Given the description of an element on the screen output the (x, y) to click on. 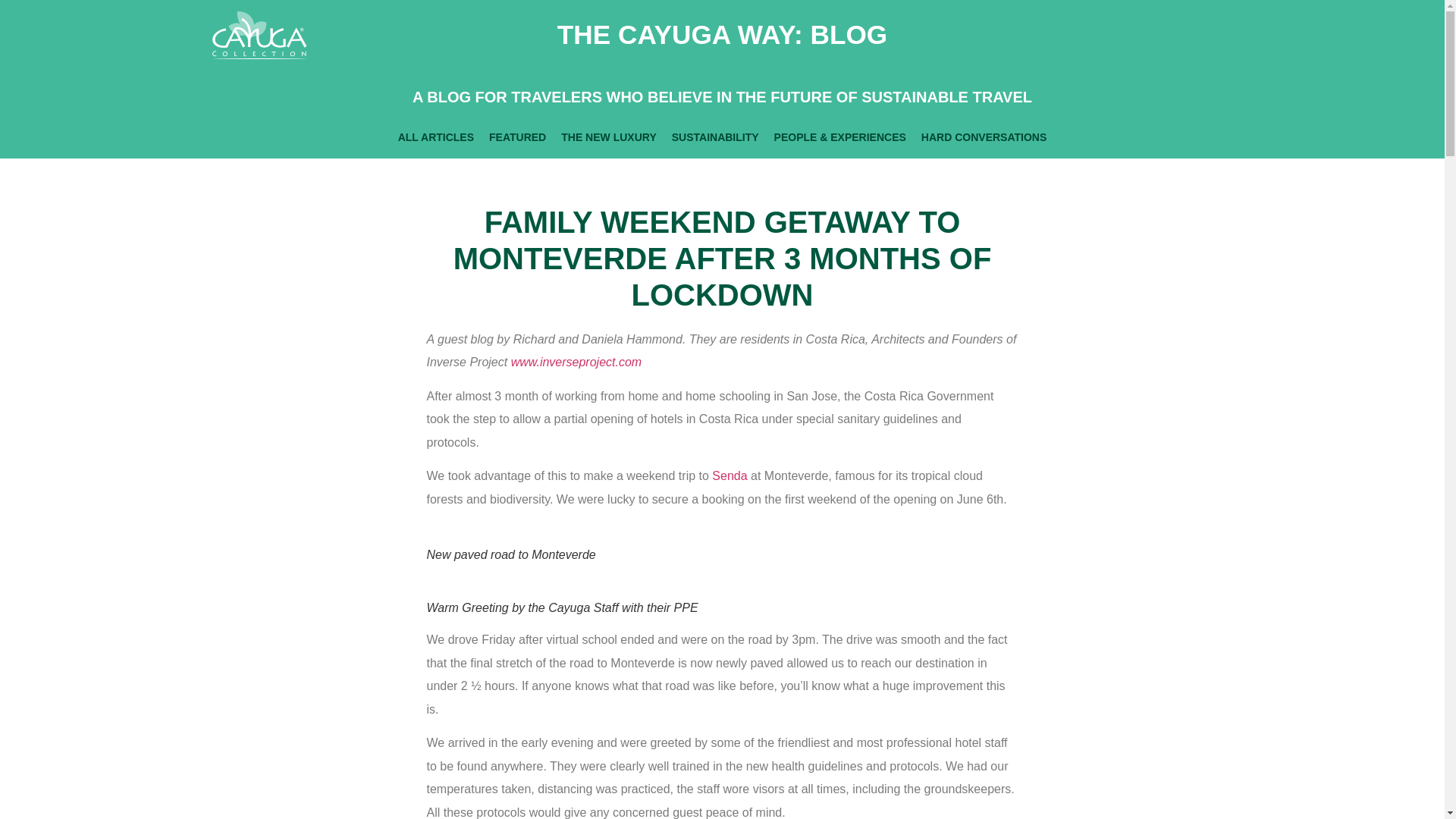
Senda (731, 475)
www.inverseproject.com (576, 361)
ALL ARTICLES (435, 136)
SUSTAINABILITY (715, 136)
FEATURED (517, 136)
HARD CONVERSATIONS (984, 136)
THE NEW LUXURY (608, 136)
